Given the description of an element on the screen output the (x, y) to click on. 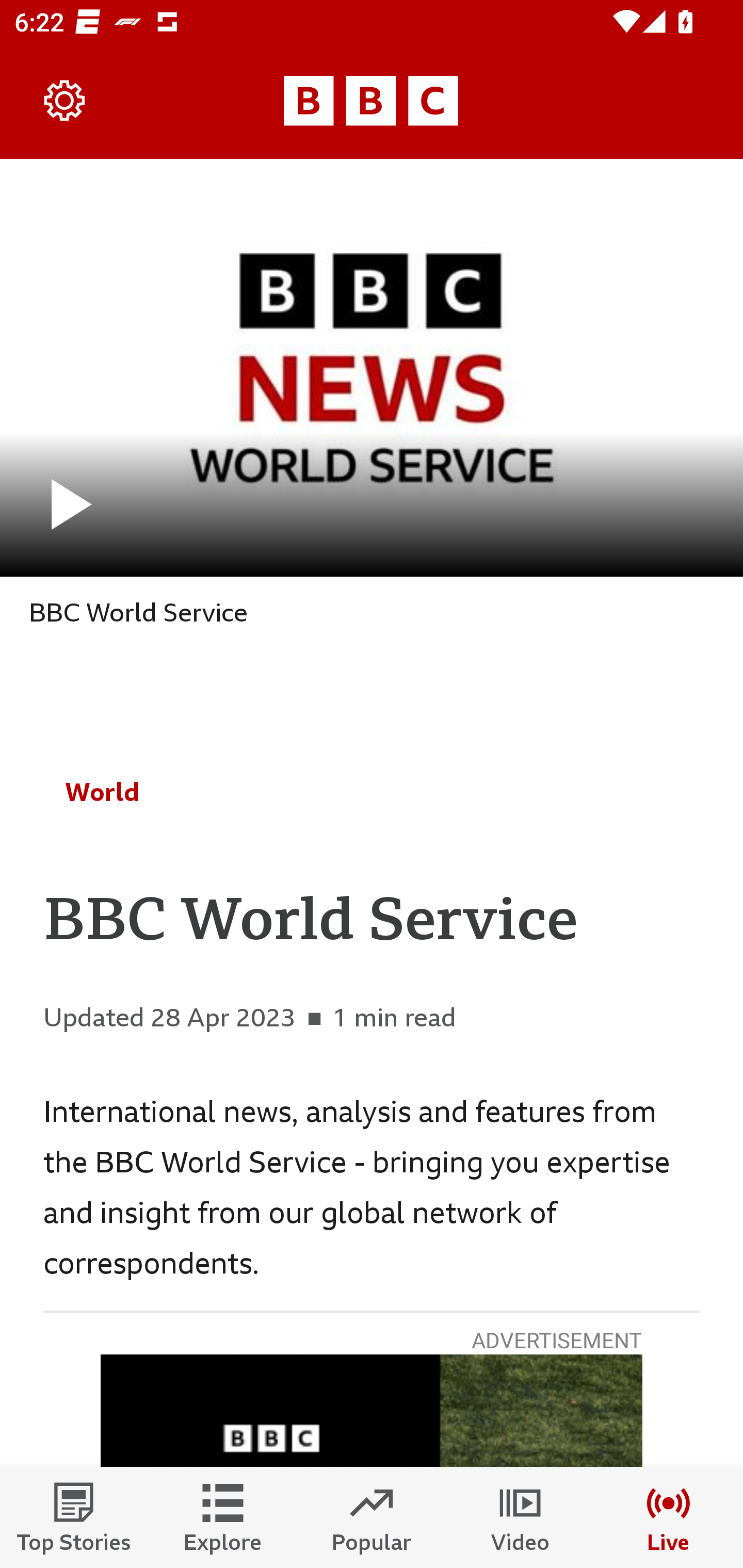
Settings (64, 100)
play fullscreen (371, 367)
World (102, 791)
Top Stories (74, 1517)
Explore (222, 1517)
Popular (371, 1517)
Video (519, 1517)
